Given the description of an element on the screen output the (x, y) to click on. 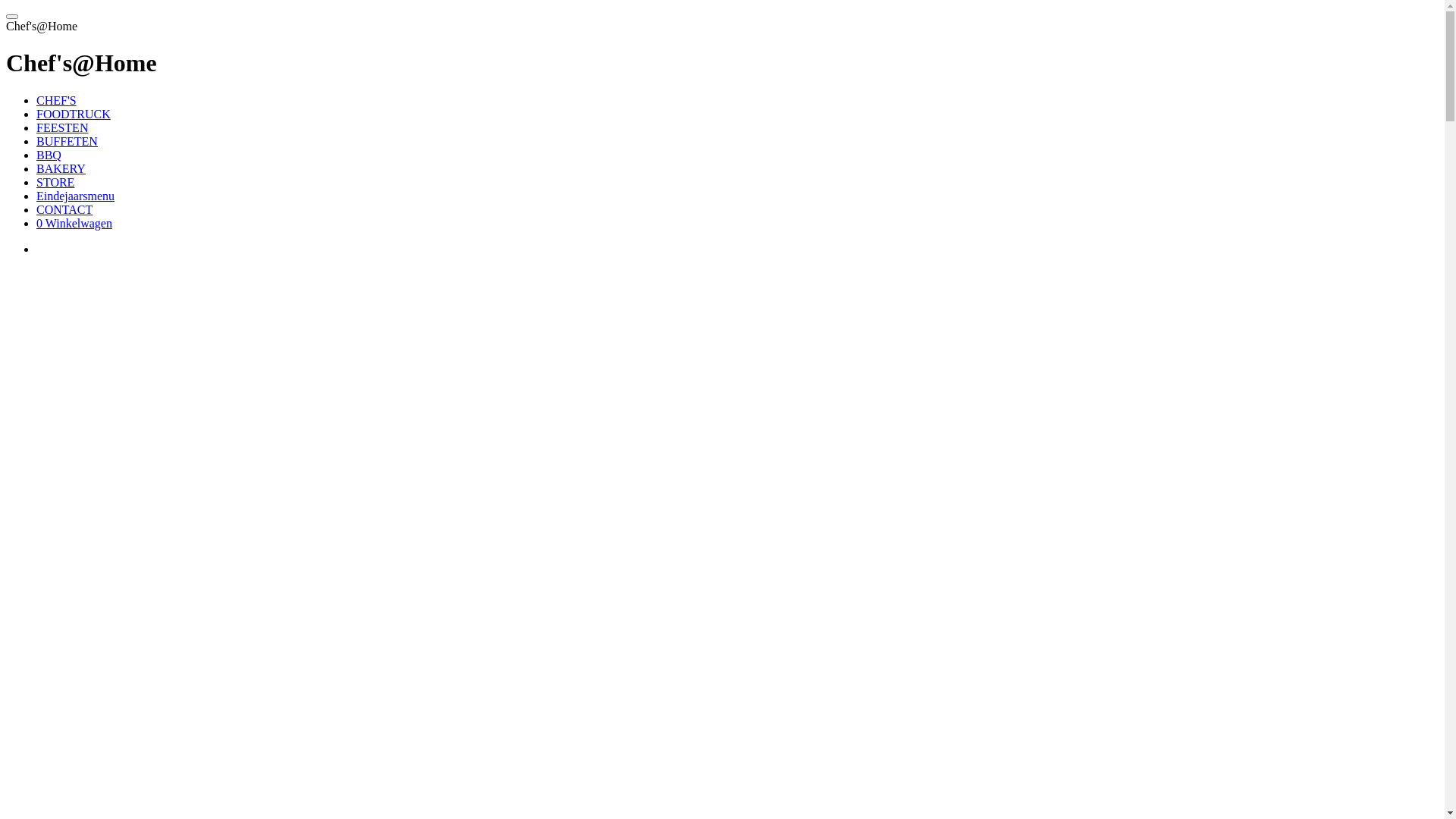
FOODTRUCK Element type: text (73, 113)
BBQ Element type: text (48, 154)
BAKERY Element type: text (60, 168)
BUFFETEN Element type: text (66, 140)
FEESTEN Element type: text (61, 127)
CONTACT Element type: text (64, 209)
STORE Element type: text (55, 181)
CHEF'S Element type: text (56, 100)
Eindejaarsmenu Element type: text (75, 195)
0 Winkelwagen Element type: text (74, 222)
